Given the description of an element on the screen output the (x, y) to click on. 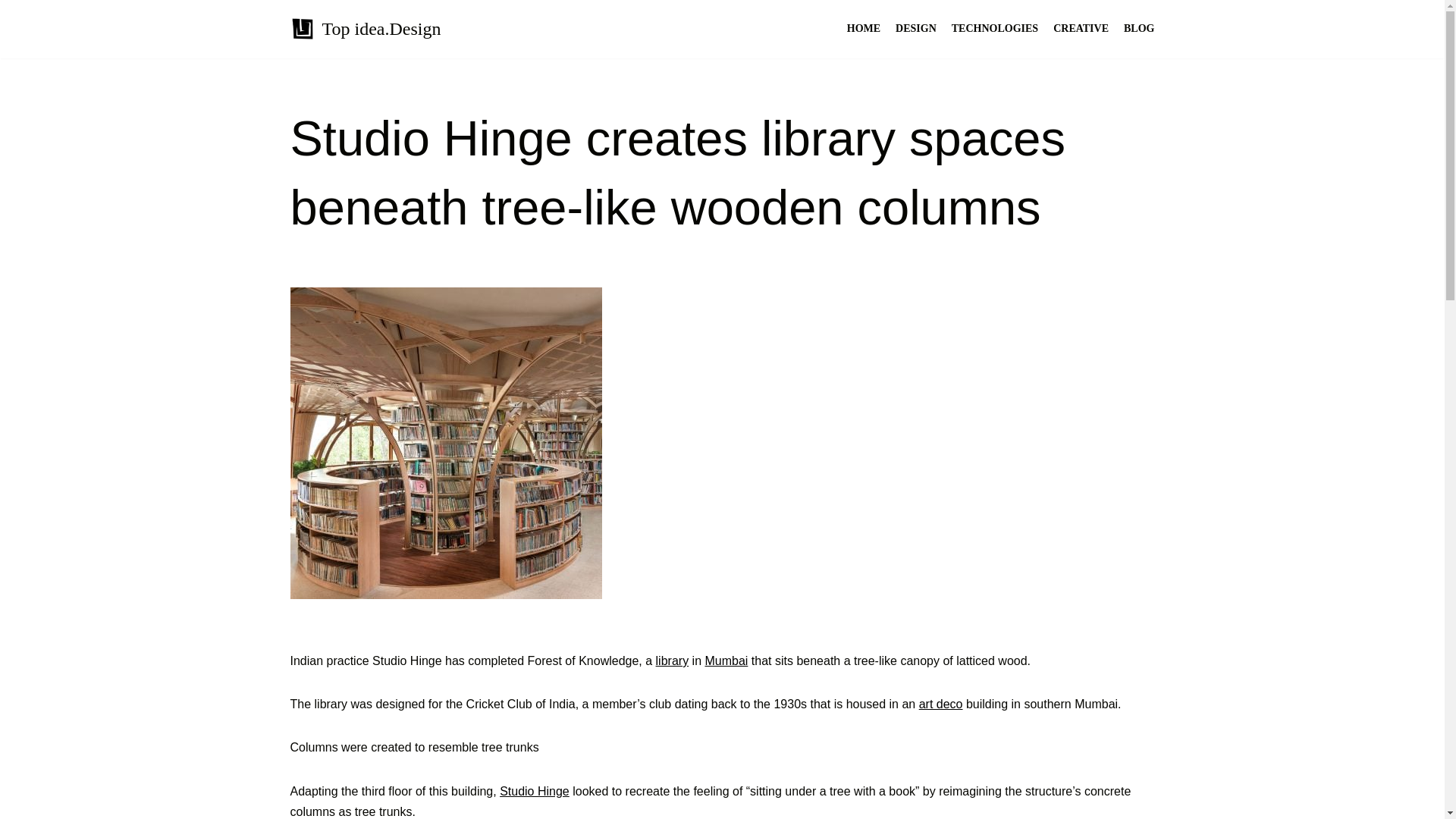
CREATIVE (1080, 28)
art deco (940, 703)
Top idea.Design (365, 29)
Studio Hinge (534, 790)
Skip to content (11, 31)
library (672, 660)
HOME (863, 28)
Top idea.Design (365, 29)
BLOG (1139, 28)
TECHNOLOGIES (995, 28)
Mumbai (726, 660)
DESIGN (915, 28)
